Given the description of an element on the screen output the (x, y) to click on. 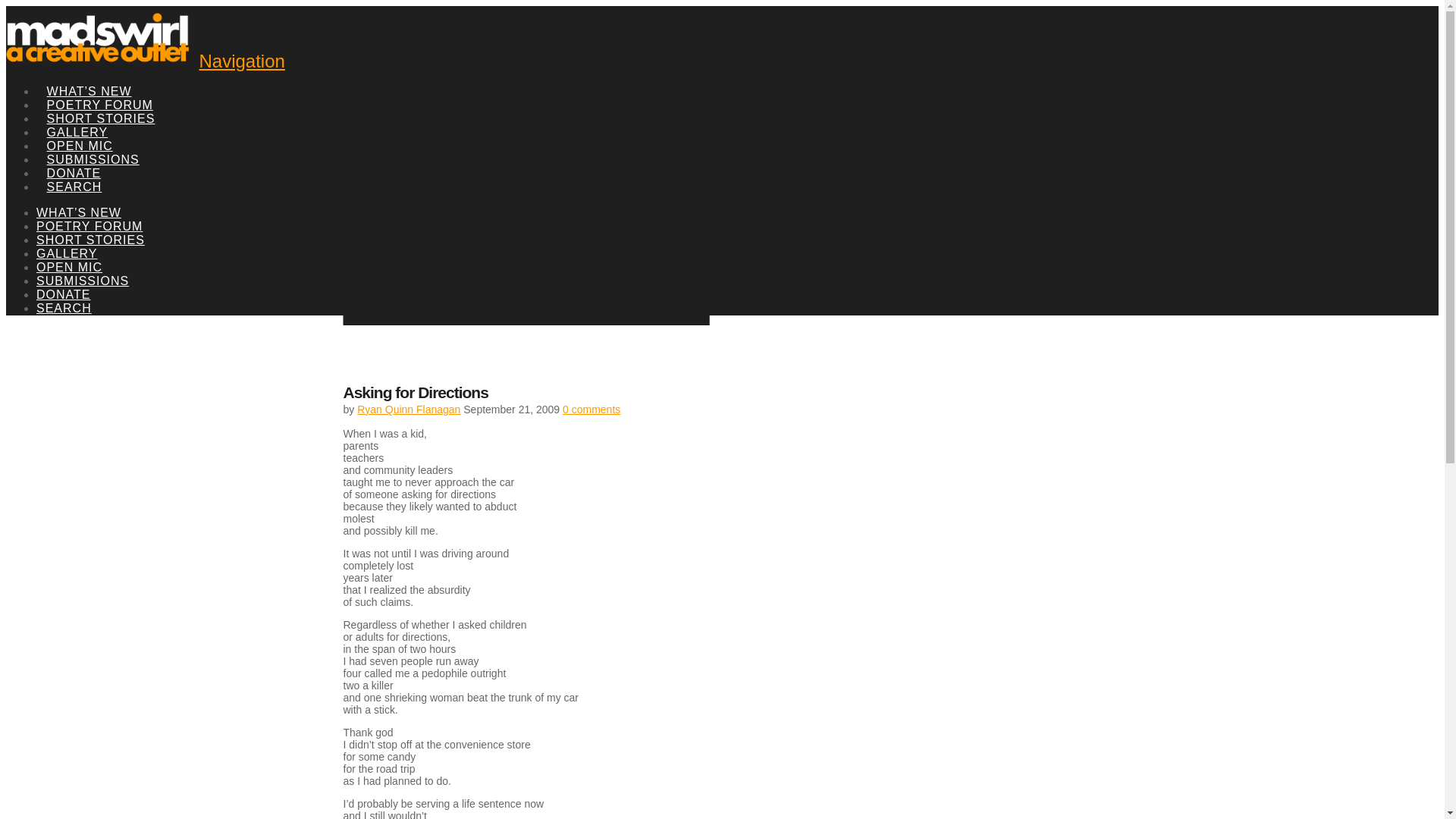
0 comments (591, 409)
GALLERY (66, 253)
POETRY FORUM (545, 232)
SEARCH (74, 169)
Poetry (545, 232)
DONATE (63, 294)
SHORT STORIES (100, 101)
Navigation (240, 60)
POETRY FORUM (89, 226)
SUBMISSIONS (92, 142)
OPEN MIC (79, 128)
The whole mad swirl of everything to come begins now! (100, 59)
SHORT STORIES (90, 239)
post comments (591, 409)
Ryan Quinn Flanagan (408, 409)
